Given the description of an element on the screen output the (x, y) to click on. 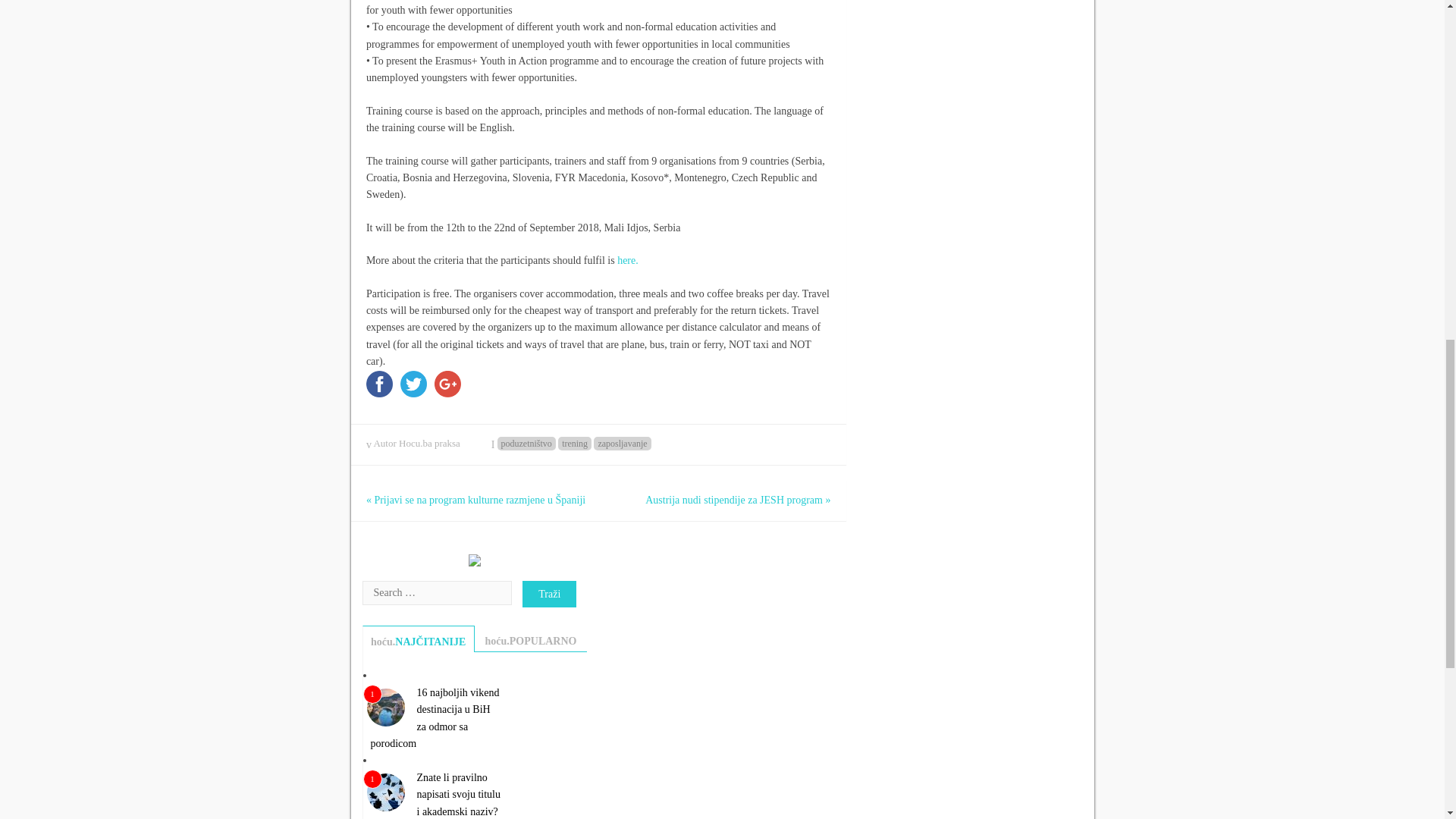
trening (574, 443)
zaposljavanje (622, 443)
google (447, 387)
facebook (379, 387)
here. (628, 260)
16 najboljih vikend destinacija u BiH za odmor sa porodicom (434, 718)
Znate li pravilno napisati svoju titulu i akademski naziv? (458, 794)
twitter (413, 387)
